Given the description of an element on the screen output the (x, y) to click on. 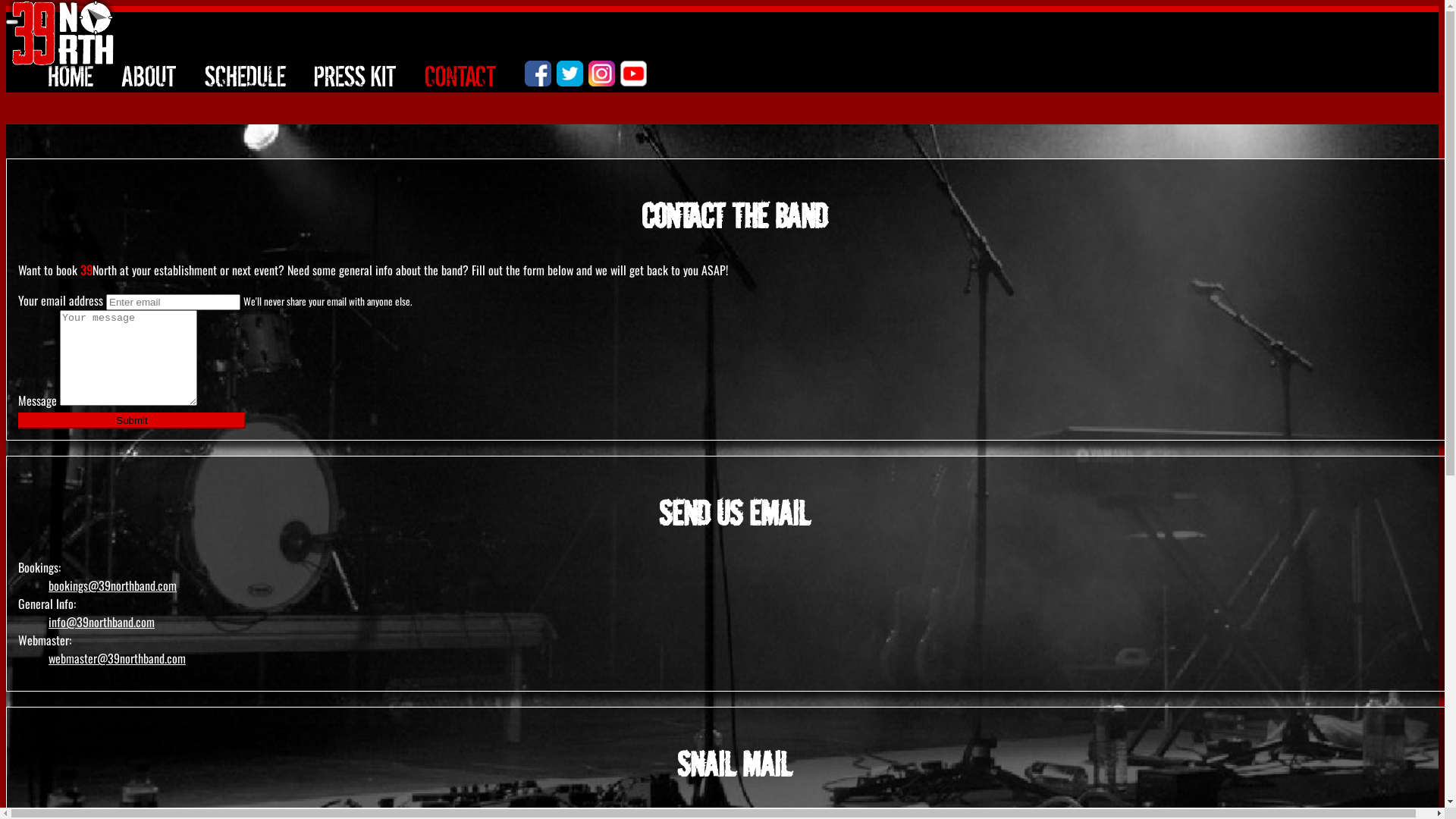
SCHEDULE Element type: text (245, 76)
ABOUT Element type: text (148, 76)
PRESS KIT Element type: text (354, 76)
bookings@39northband.com Element type: text (112, 585)
webmaster@39northband.com Element type: text (116, 658)
info@39northband.com Element type: text (101, 621)
CONTACT Element type: text (460, 76)
Submit Element type: text (131, 420)
HOME Element type: text (70, 76)
